Given the description of an element on the screen output the (x, y) to click on. 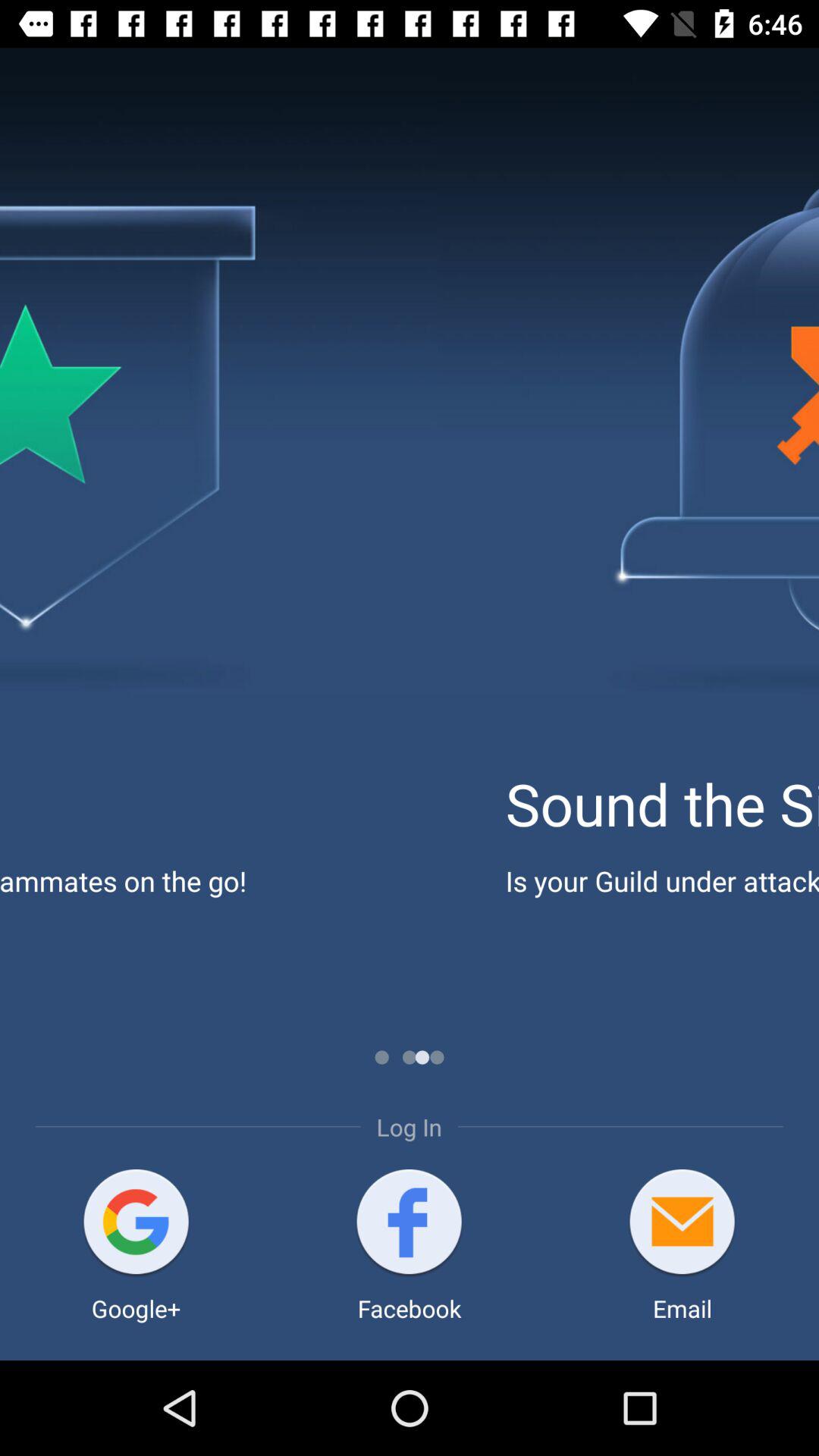
tap icon above the facebook (408, 1223)
